Given the description of an element on the screen output the (x, y) to click on. 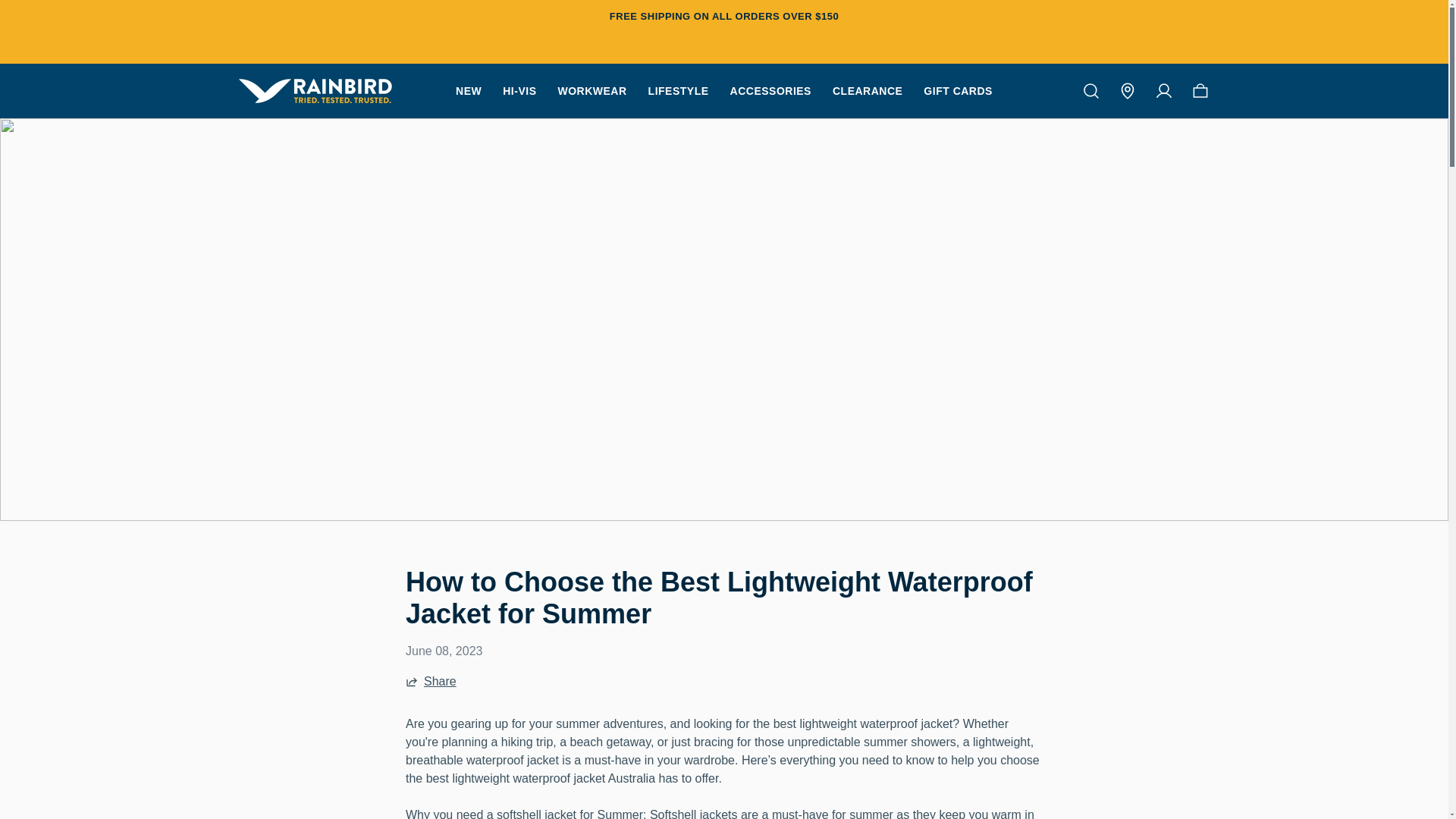
Rainbird Workwear (314, 90)
LIFESTYLE (678, 90)
Account Dashboard (1163, 90)
CLEARANCE (867, 90)
GIFT CARDS (957, 90)
ACCESSORIES (770, 90)
WORKWEAR (591, 90)
